Given the description of an element on the screen output the (x, y) to click on. 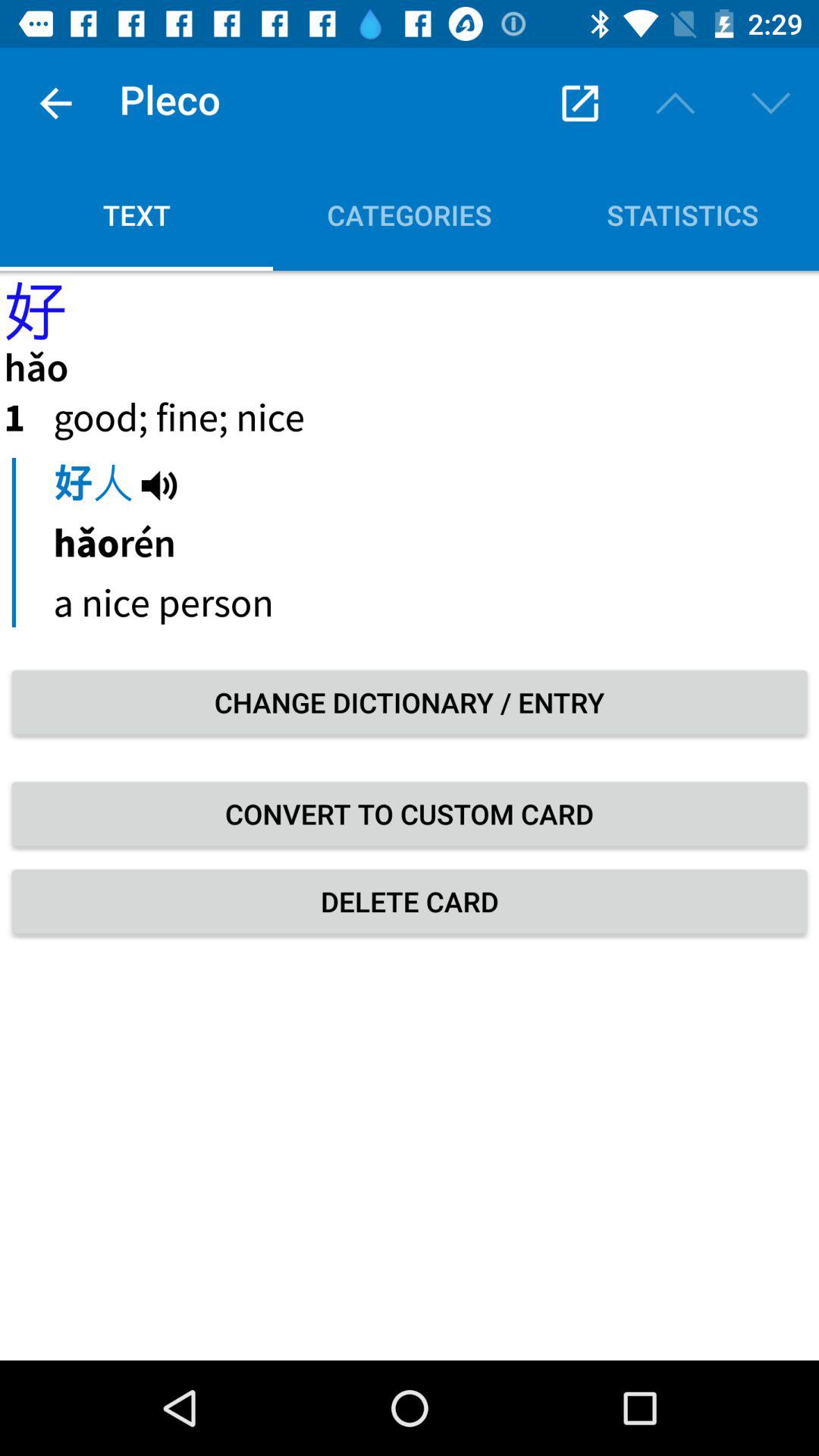
choose convert to custom icon (409, 813)
